Given the description of an element on the screen output the (x, y) to click on. 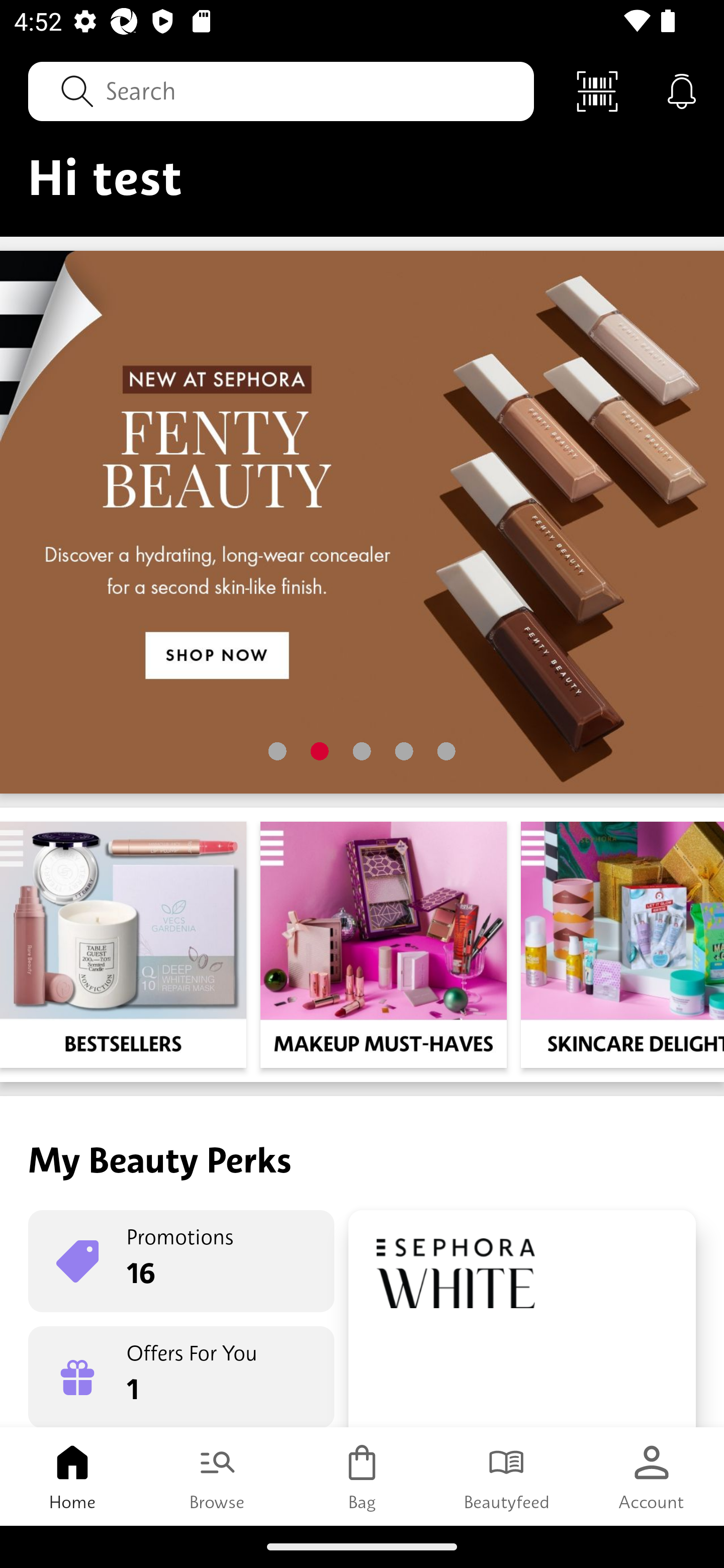
Scan Code (597, 90)
Notifications (681, 90)
Search (281, 90)
Promotions 16 (181, 1261)
Rewards Boutique 90 Pts (521, 1318)
Offers For You 1 (181, 1376)
Browse (216, 1475)
Bag (361, 1475)
Beautyfeed (506, 1475)
Account (651, 1475)
